Given the description of an element on the screen output the (x, y) to click on. 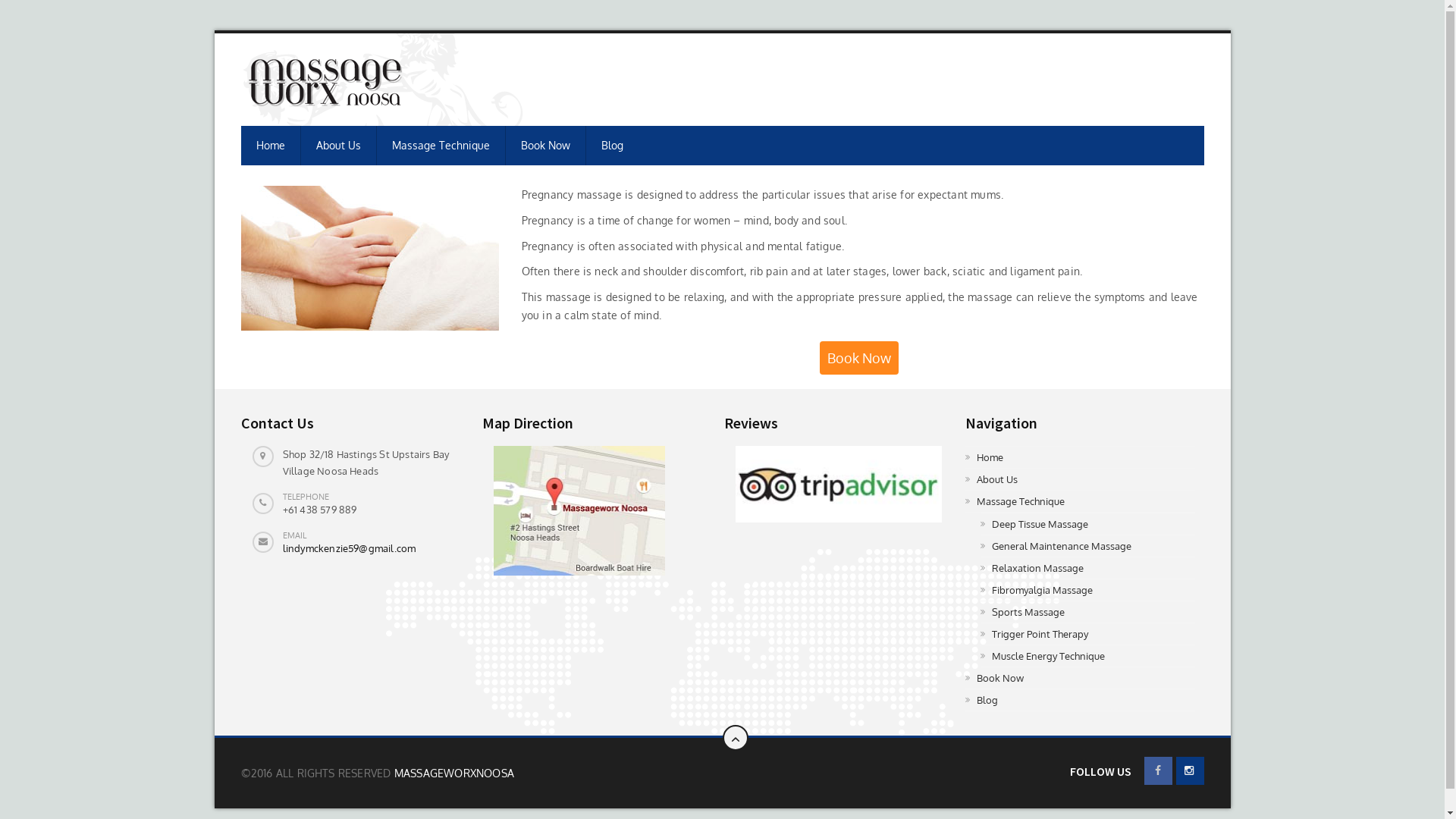
Fibromyalgia Massage Element type: text (1087, 590)
Muscle Energy Technique Element type: text (1087, 656)
Blog Element type: text (1080, 700)
About Us Element type: text (1080, 479)
Massage Technique Element type: text (440, 145)
Home Element type: text (271, 145)
General Maintenance Massage Element type: text (1087, 546)
Sports Massage Element type: text (1087, 612)
Deep Tissue Massage Element type: text (1087, 524)
Relaxation Massage Element type: text (1087, 568)
Trigger Point Therapy Element type: text (1087, 634)
Blog Element type: text (611, 145)
Book Now Element type: text (545, 145)
Home Element type: text (1080, 457)
MASSAGEWORXNOOSA Element type: text (454, 772)
Book Now Element type: text (1080, 678)
Book Now Element type: text (858, 357)
Massage Technique Element type: text (1080, 501)
lindymckenzie59@gmail.com Element type: text (348, 548)
About Us Element type: text (338, 145)
